Given the description of an element on the screen output the (x, y) to click on. 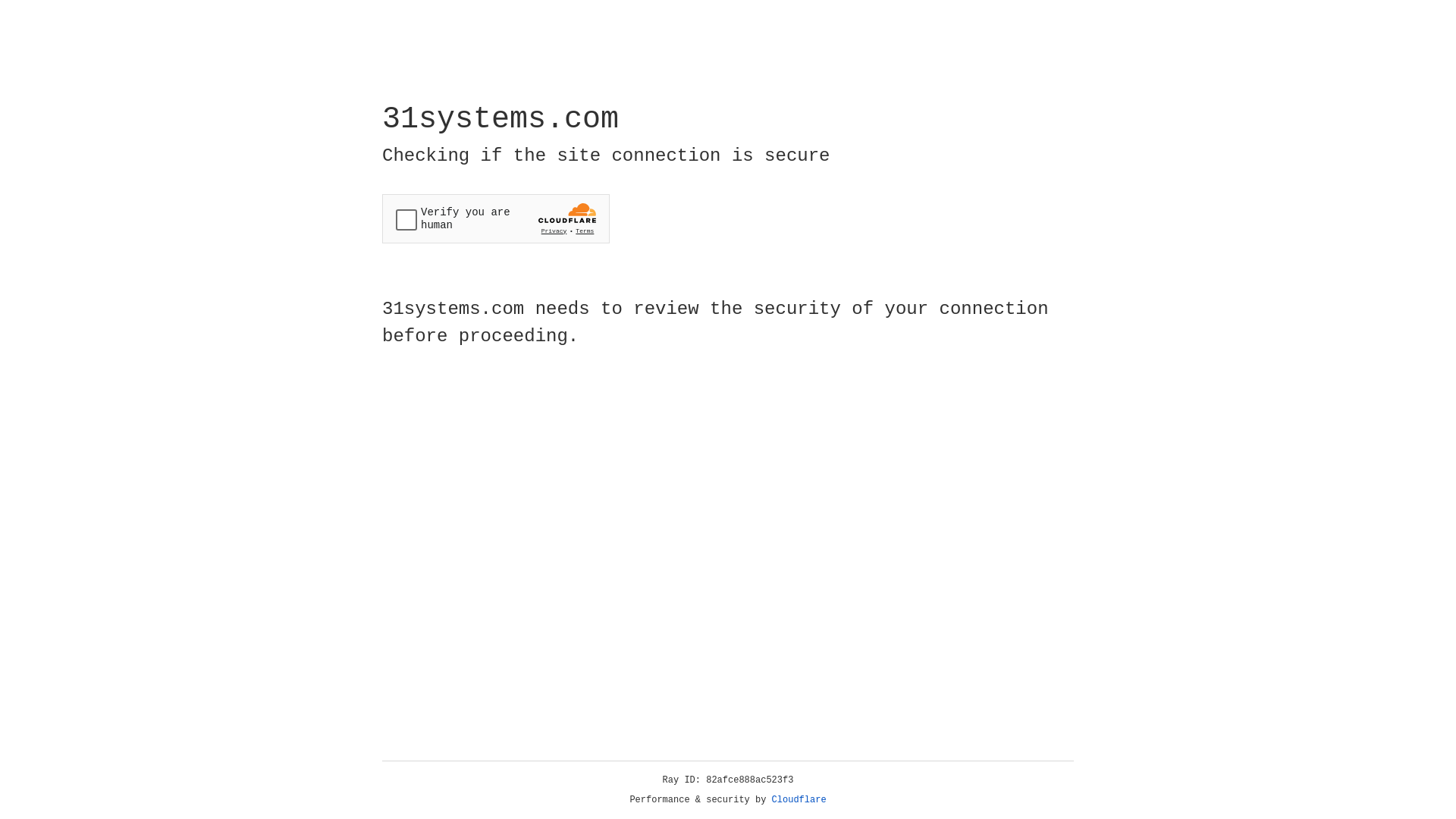
Widget containing a Cloudflare security challenge Element type: hover (495, 218)
Cloudflare Element type: text (798, 799)
